Given the description of an element on the screen output the (x, y) to click on. 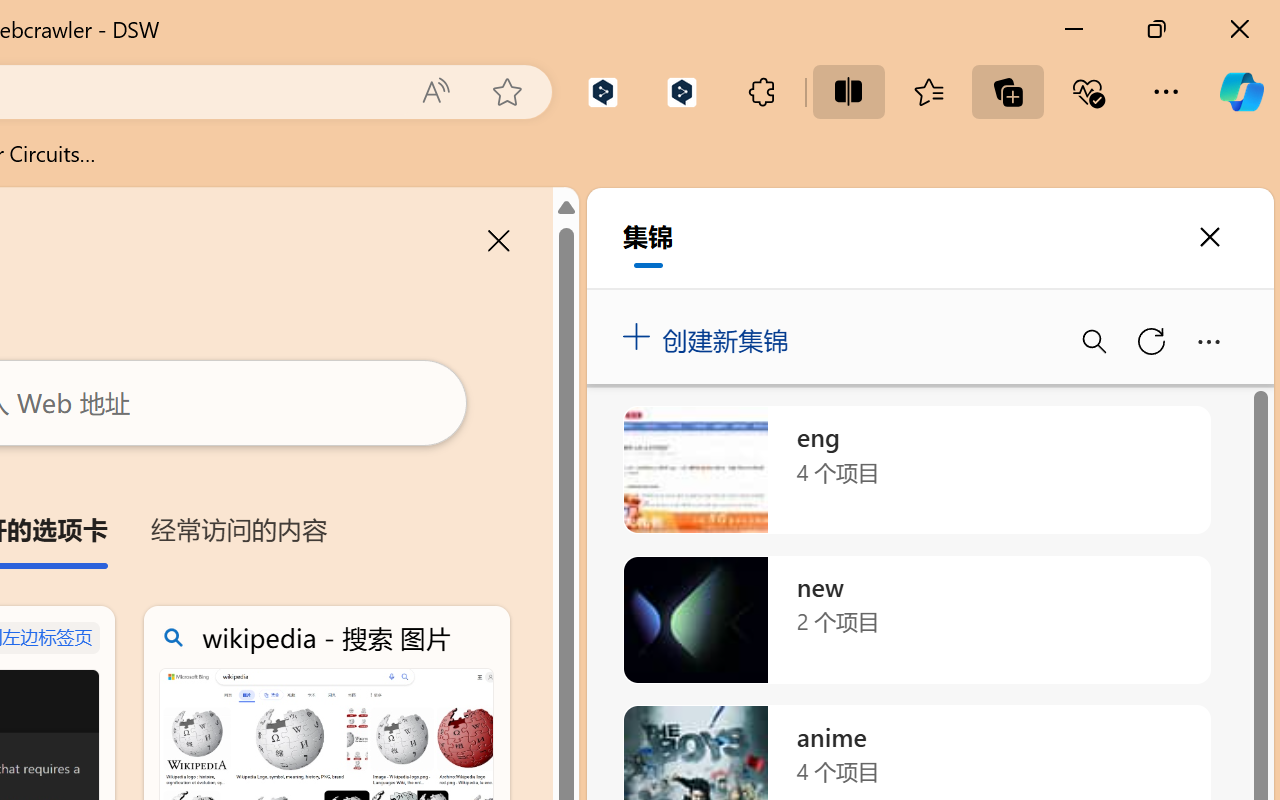
Copilot (Ctrl+Shift+.) (1241, 91)
